Given the description of an element on the screen output the (x, y) to click on. 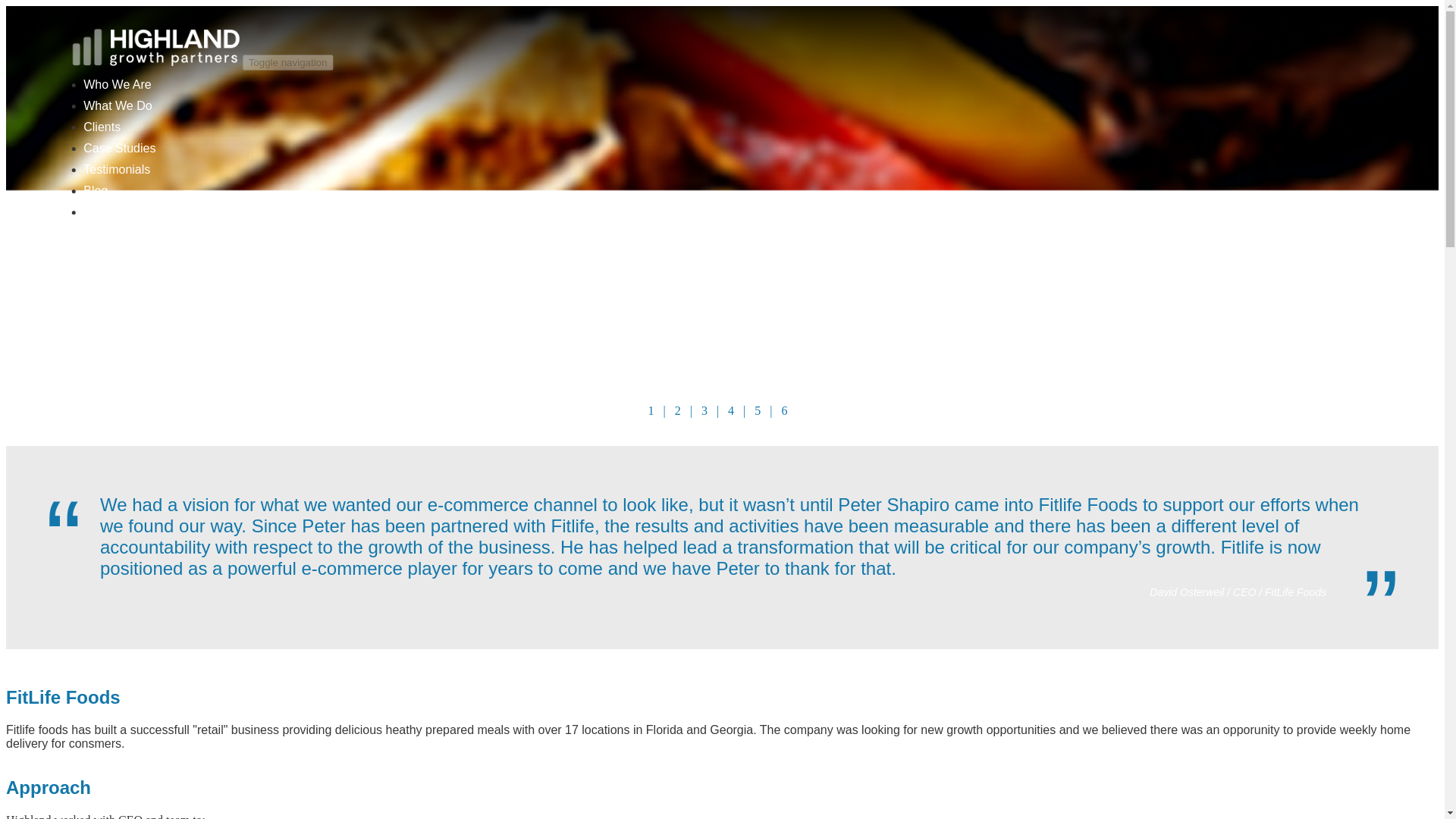
What We Do (116, 105)
What We Do (116, 105)
Contact Us (112, 211)
2 (677, 410)
Clients (101, 126)
view case study (757, 410)
Who We Are (116, 83)
view case study (677, 410)
view case study (730, 410)
5 (757, 410)
